Given the description of an element on the screen output the (x, y) to click on. 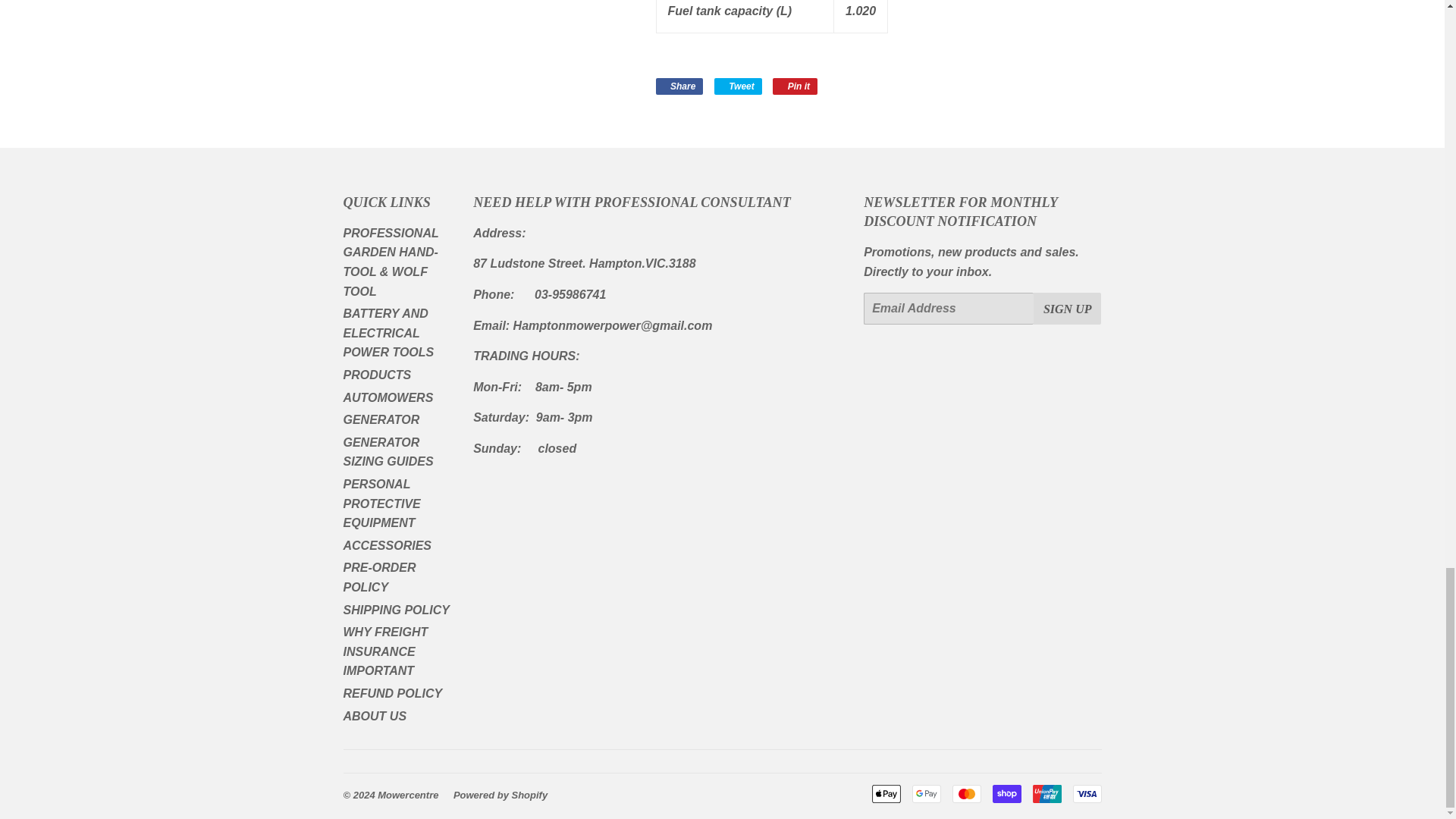
Shop Pay (1005, 793)
Share on Facebook (679, 86)
Apple Pay (886, 793)
Union Pay (1046, 793)
Visa (1085, 793)
Mastercard (966, 793)
Pin on Pinterest (794, 86)
Tweet on Twitter (737, 86)
Google Pay (925, 793)
